Given the description of an element on the screen output the (x, y) to click on. 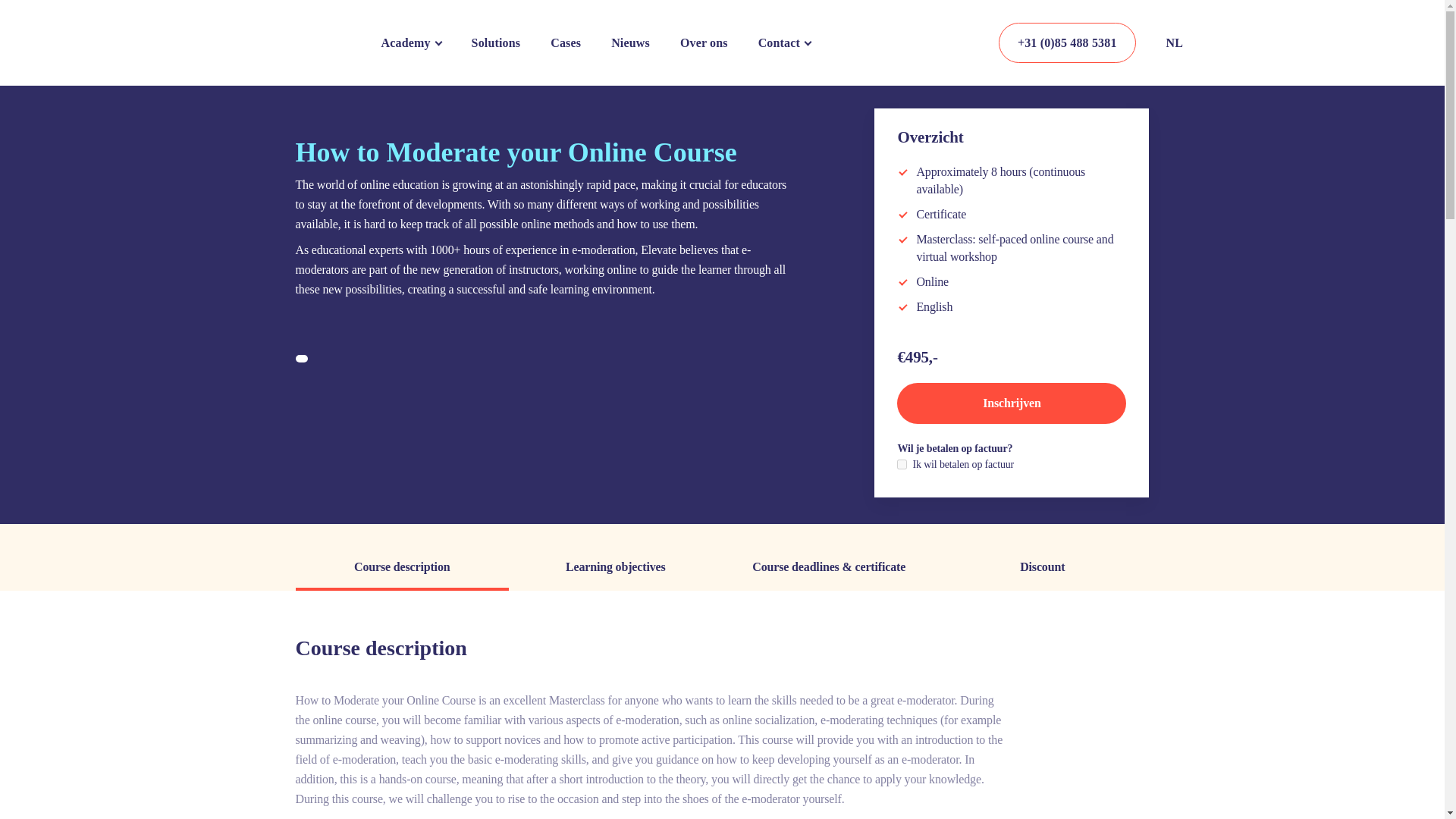
Nieuws (630, 42)
Solutions (496, 42)
Over ons (703, 42)
2 (901, 464)
Cases (565, 42)
NL (1183, 42)
Contact (778, 42)
Academy (404, 42)
